Given the description of an element on the screen output the (x, y) to click on. 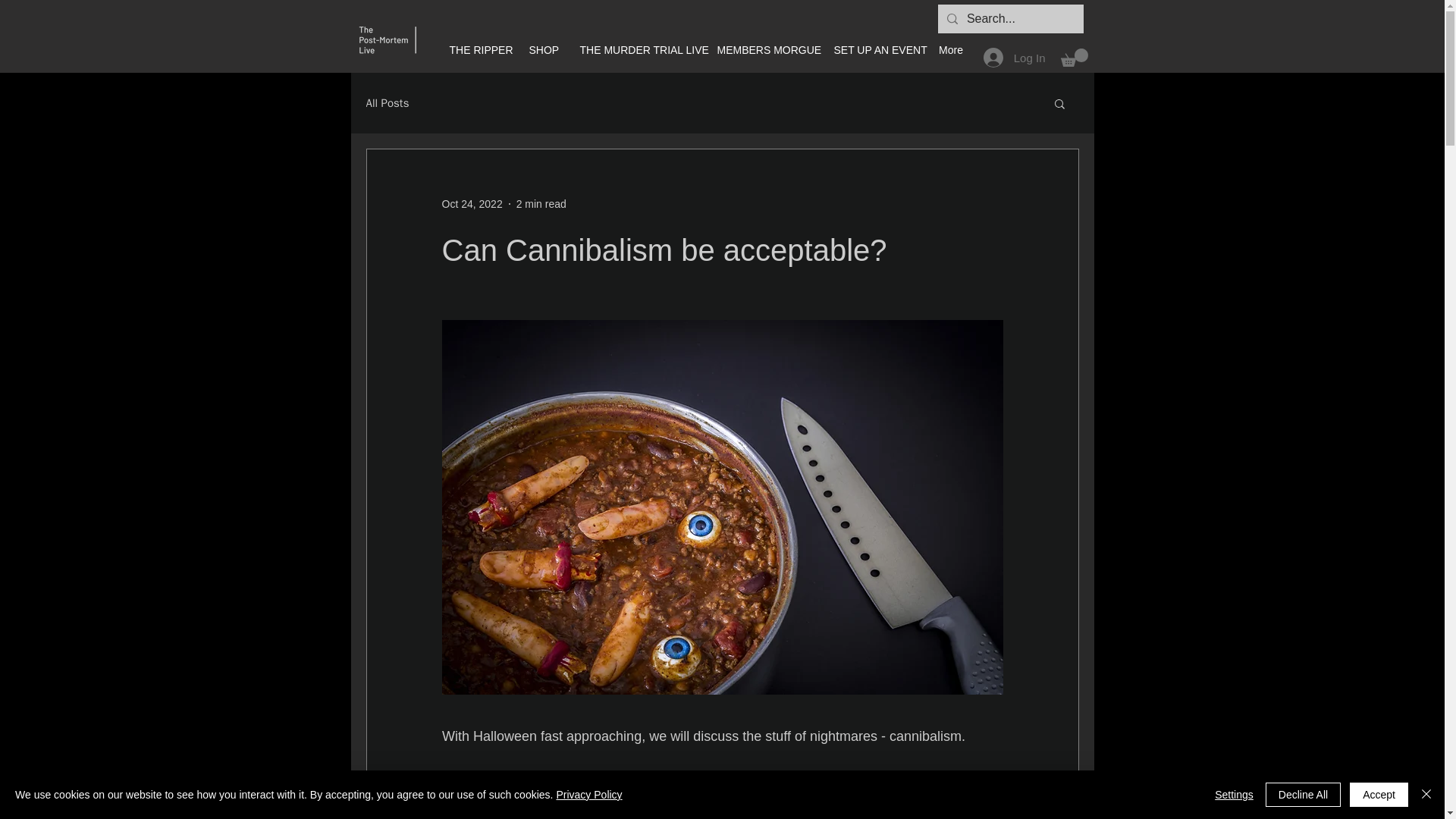
THE RIPPER (478, 49)
SHOP (541, 49)
MEMBERS MORGUE (763, 49)
2 min read (541, 203)
SET UP AN EVENT (874, 49)
All Posts (387, 103)
Log In (1014, 57)
THE MURDER TRIAL LIVE (637, 49)
Oct 24, 2022 (471, 203)
